Given the description of an element on the screen output the (x, y) to click on. 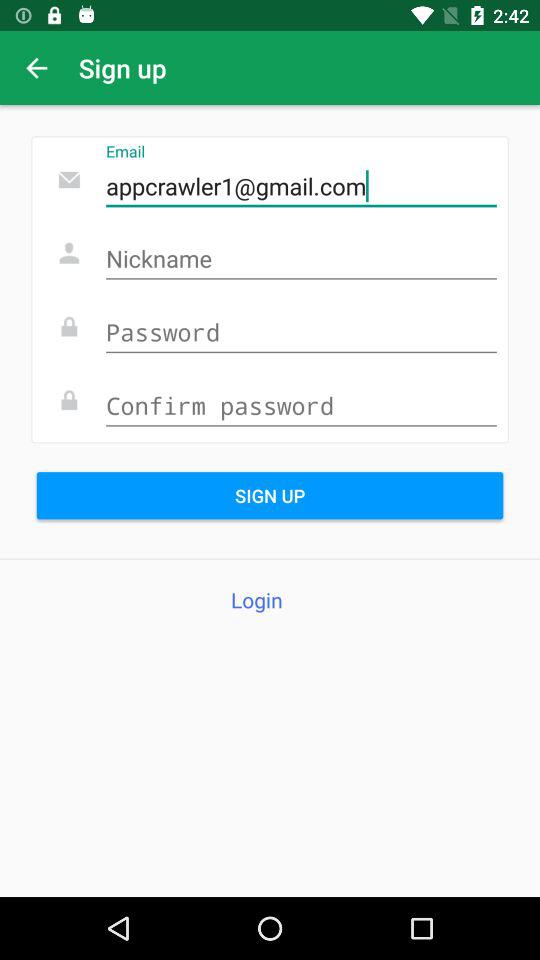
confirm password box (301, 406)
